Given the description of an element on the screen output the (x, y) to click on. 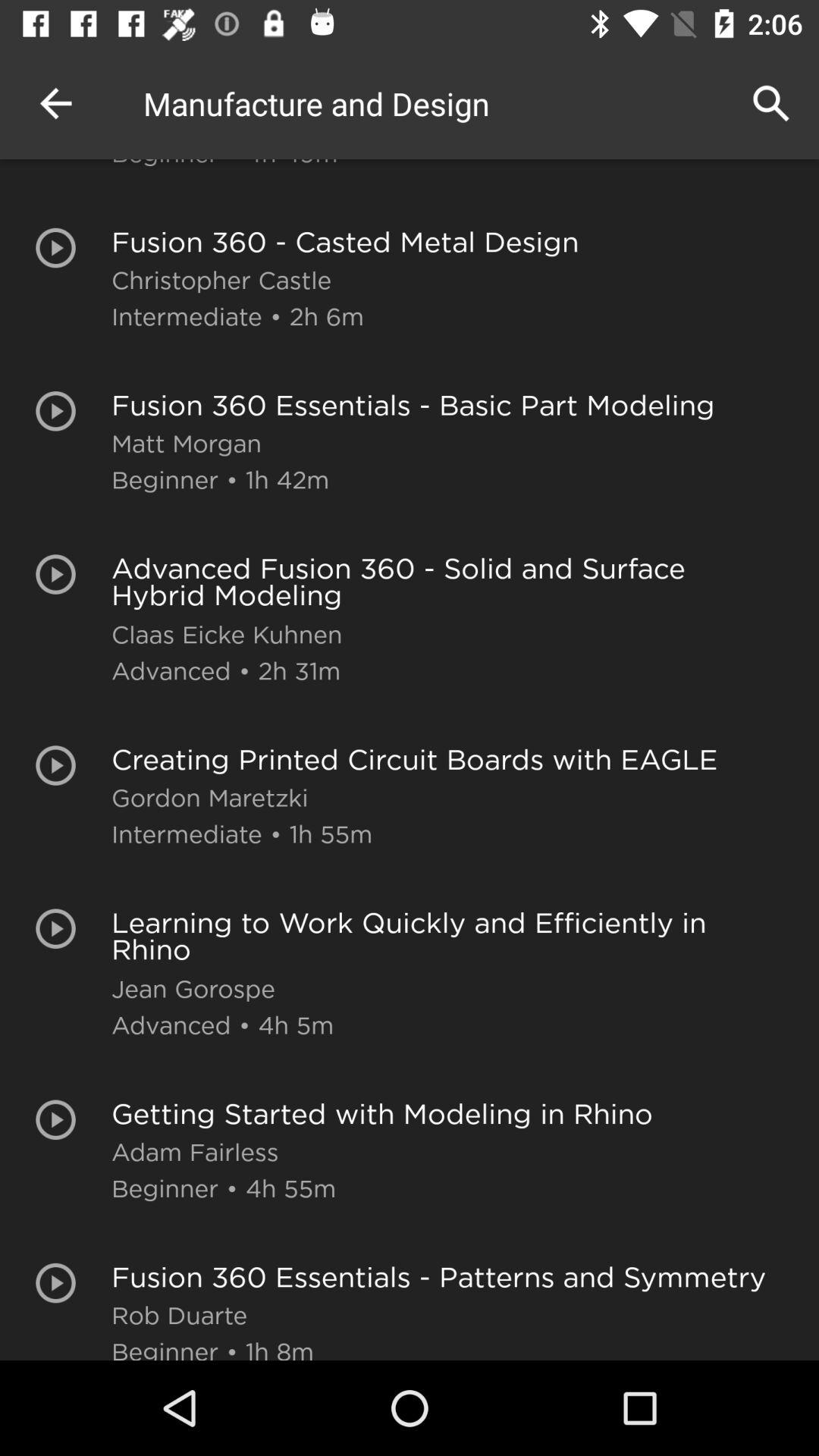
turn on the app to the left of manufacture and design app (55, 103)
